Given the description of an element on the screen output the (x, y) to click on. 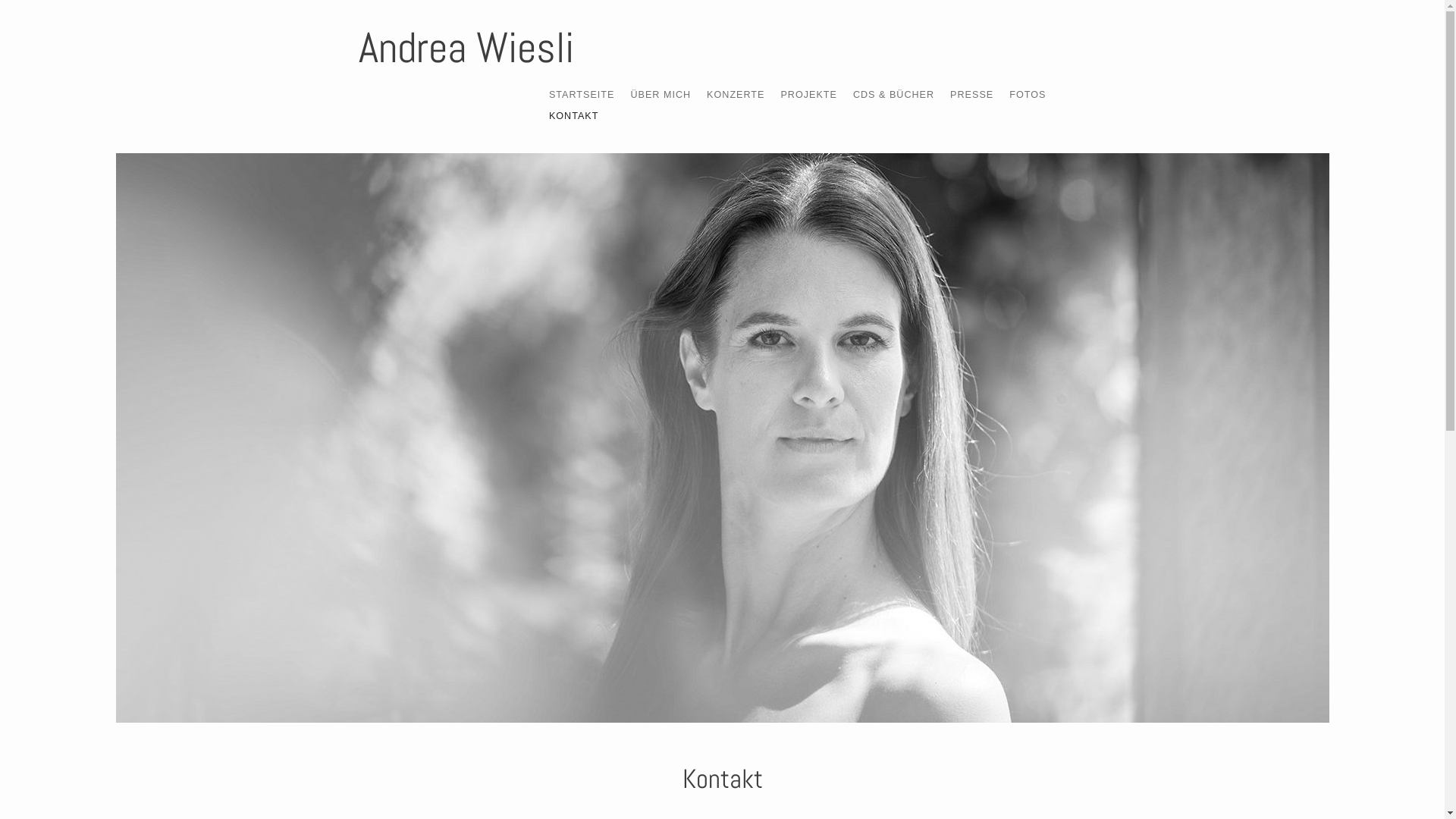
FOTOS Element type: text (1027, 94)
PROJEKTE Element type: text (808, 94)
KONZERTE Element type: text (735, 94)
STARTSEITE Element type: text (582, 94)
Andrea Wiesli Element type: text (465, 47)
SKIP TO CONTENT Element type: text (581, 91)
PRESSE Element type: text (971, 94)
KONTAKT Element type: text (574, 115)
Andrea Wiesli Element type: hover (722, 437)
